Given the description of an element on the screen output the (x, y) to click on. 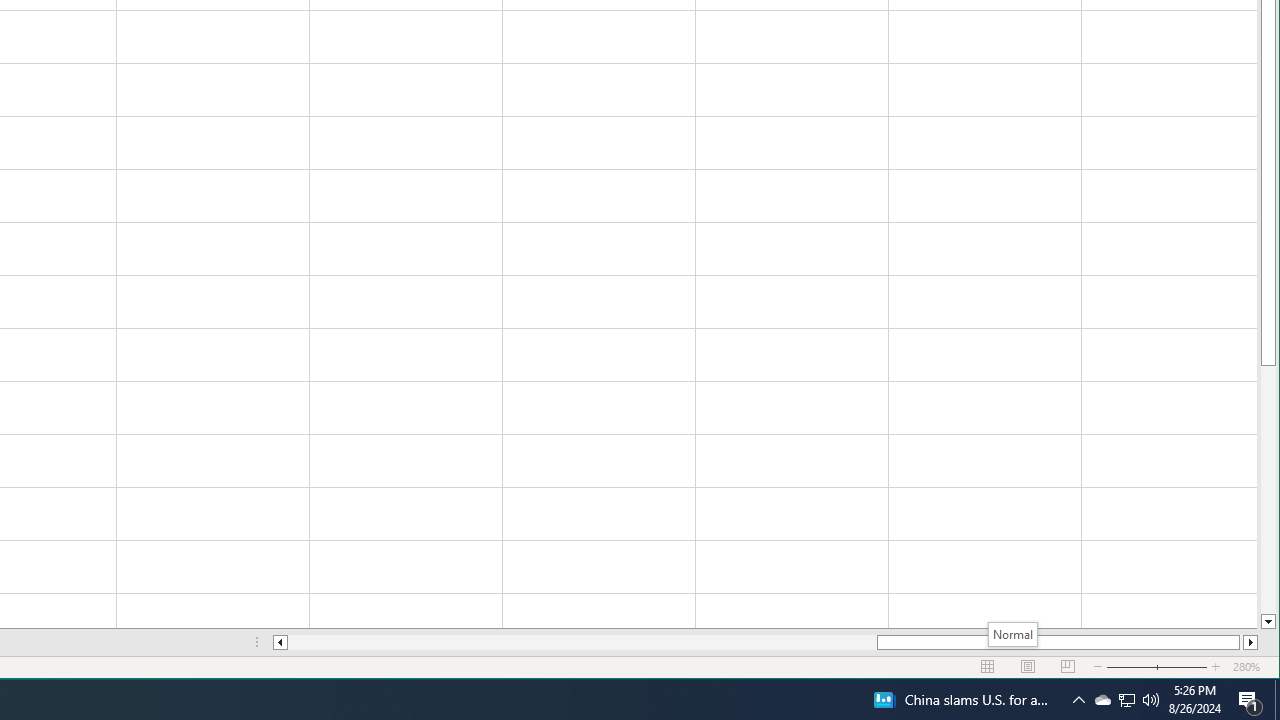
Notification Chevron (1102, 699)
